Given the description of an element on the screen output the (x, y) to click on. 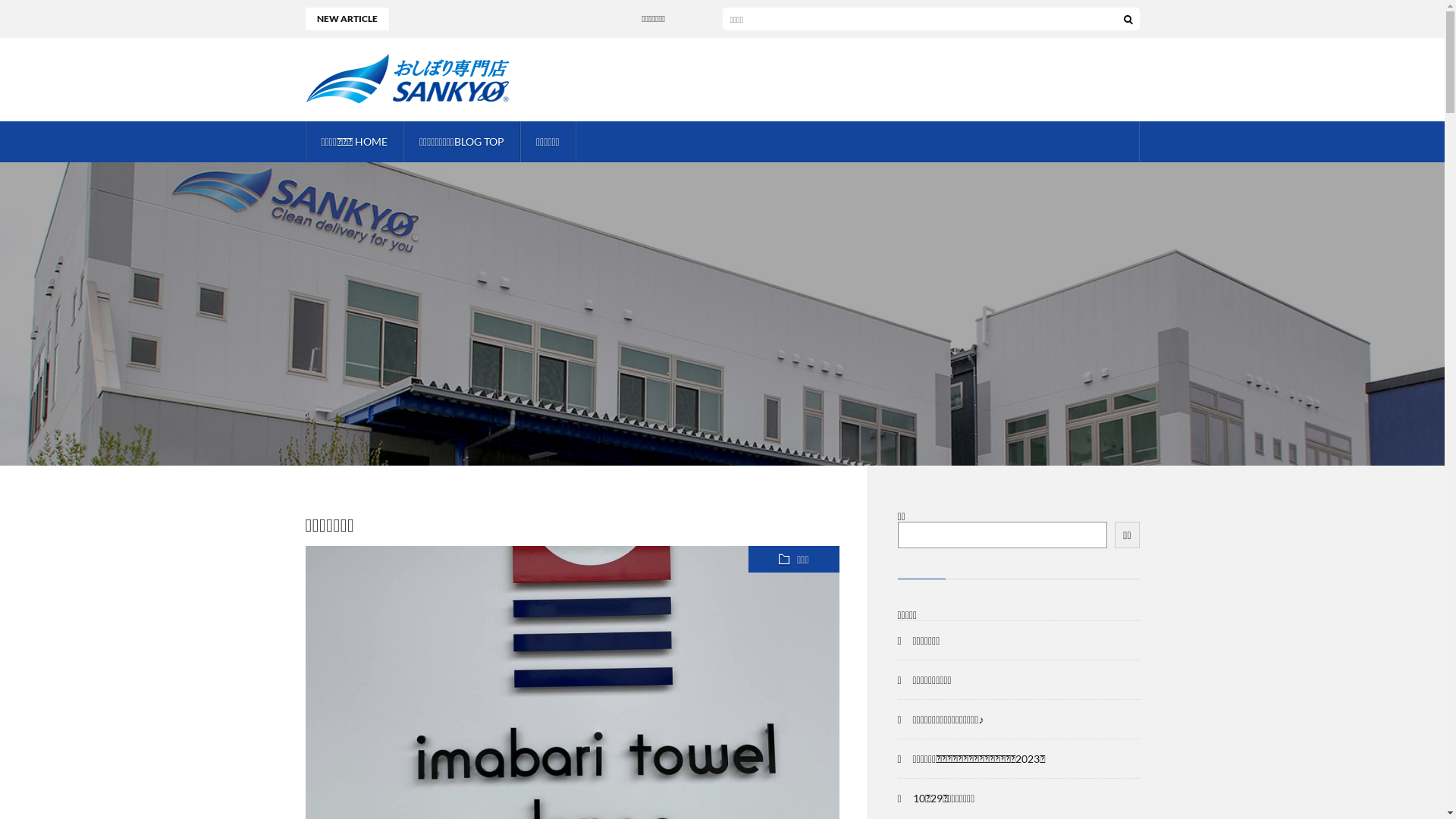
search Element type: text (1127, 18)
